Given the description of an element on the screen output the (x, y) to click on. 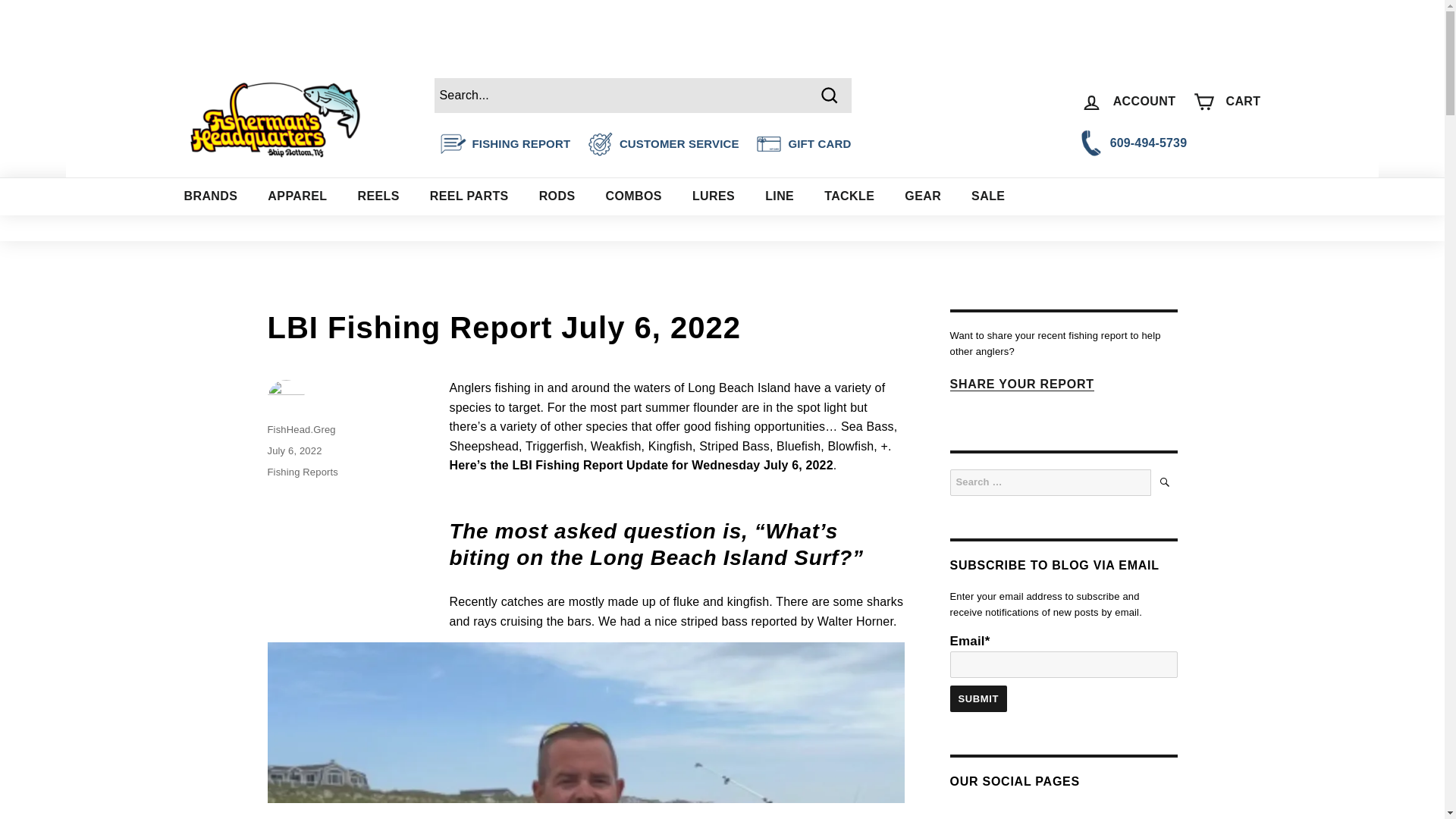
FISHING REPORT (520, 143)
CUSTOMER SERVICE (679, 143)
GEAR (922, 196)
APPAREL (296, 196)
Tackle (849, 196)
Reels (377, 196)
Combos (633, 196)
Gear (922, 196)
SALE (988, 196)
Submit (978, 698)
609-494-5739 (1170, 143)
LINE (779, 196)
Reel Parts (469, 196)
Line (779, 196)
Brands (209, 196)
